Given the description of an element on the screen output the (x, y) to click on. 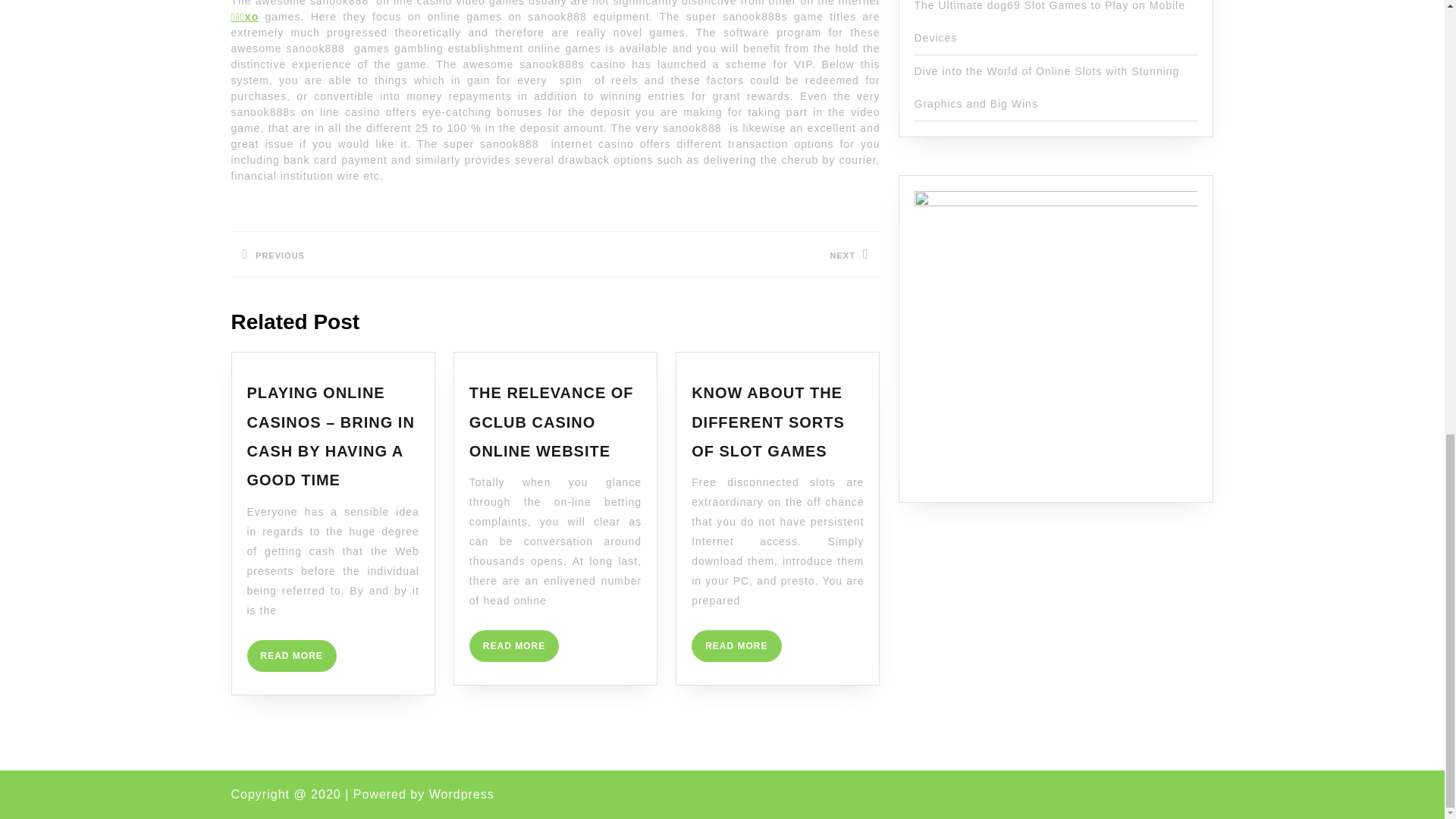
The Ultimate dog69 Slot Games to Play on Mobile Devices (291, 655)
Know About the Different Sorts of Slot Games (1050, 22)
The Relevance of Gclub Casino Online Website (735, 645)
